Given the description of an element on the screen output the (x, y) to click on. 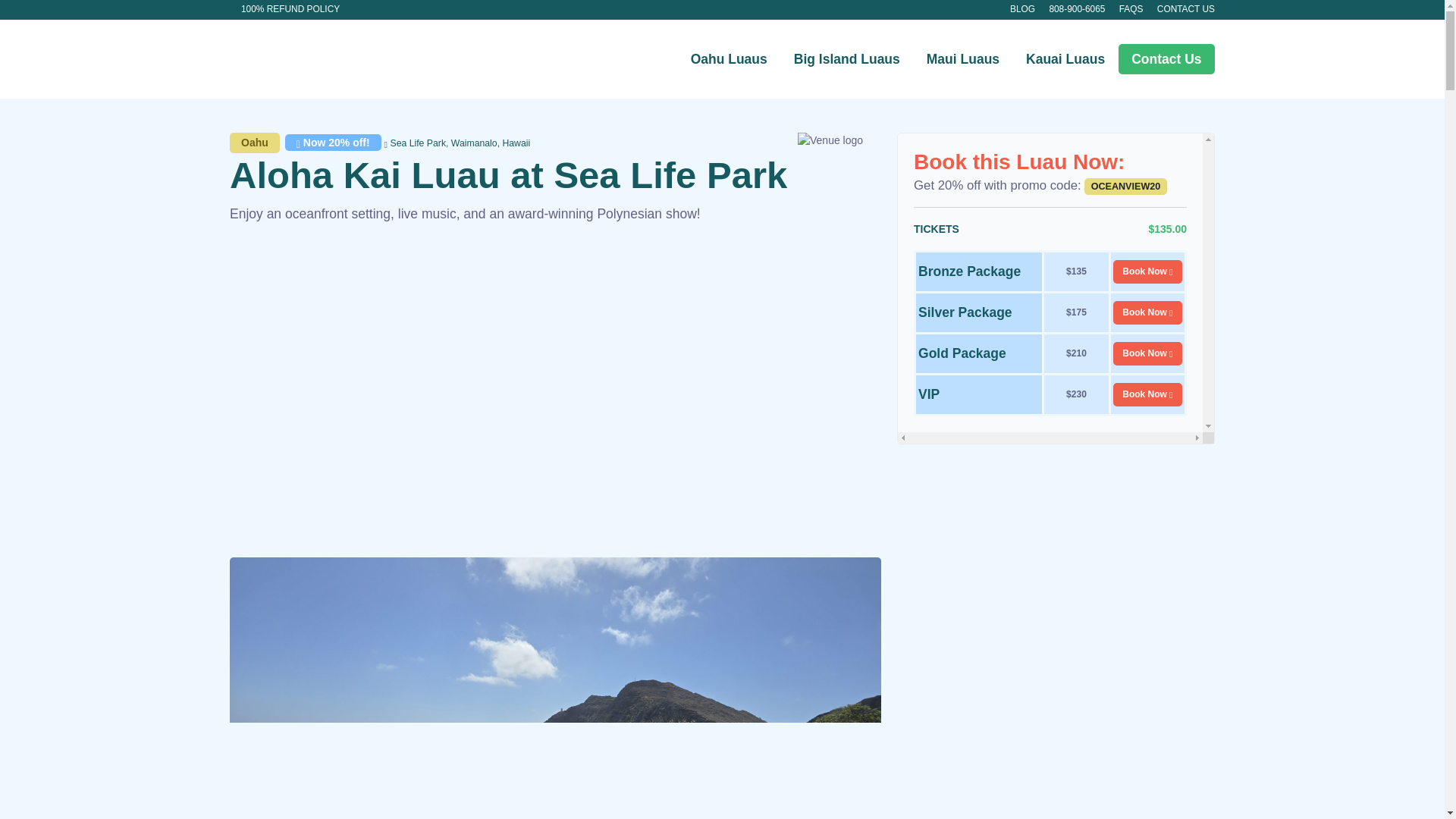
Oahu (254, 142)
Maui Luaus (961, 59)
Oahu Luaus (728, 59)
Book Now (1147, 271)
Kauai Luaus (1065, 59)
Sea Life Park, Waimanalo, Hawaii (457, 143)
BLOG (1022, 9)
Contact Us (1166, 59)
808-900-6065 (1076, 9)
CONTACT US (1185, 9)
FAQS (1130, 9)
Big Island Luaus (846, 59)
